Given the description of an element on the screen output the (x, y) to click on. 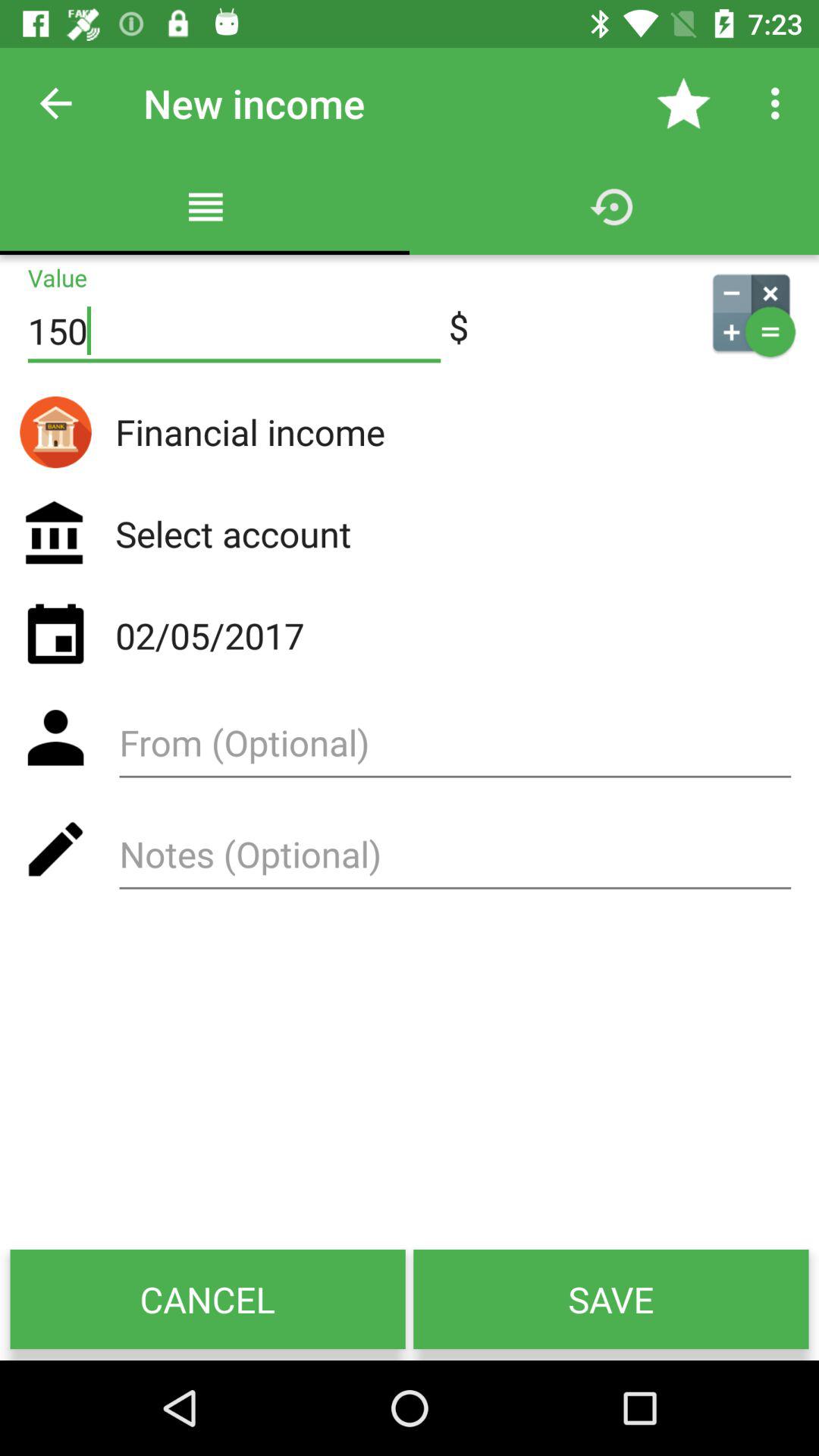
go to option (455, 748)
